Given the description of an element on the screen output the (x, y) to click on. 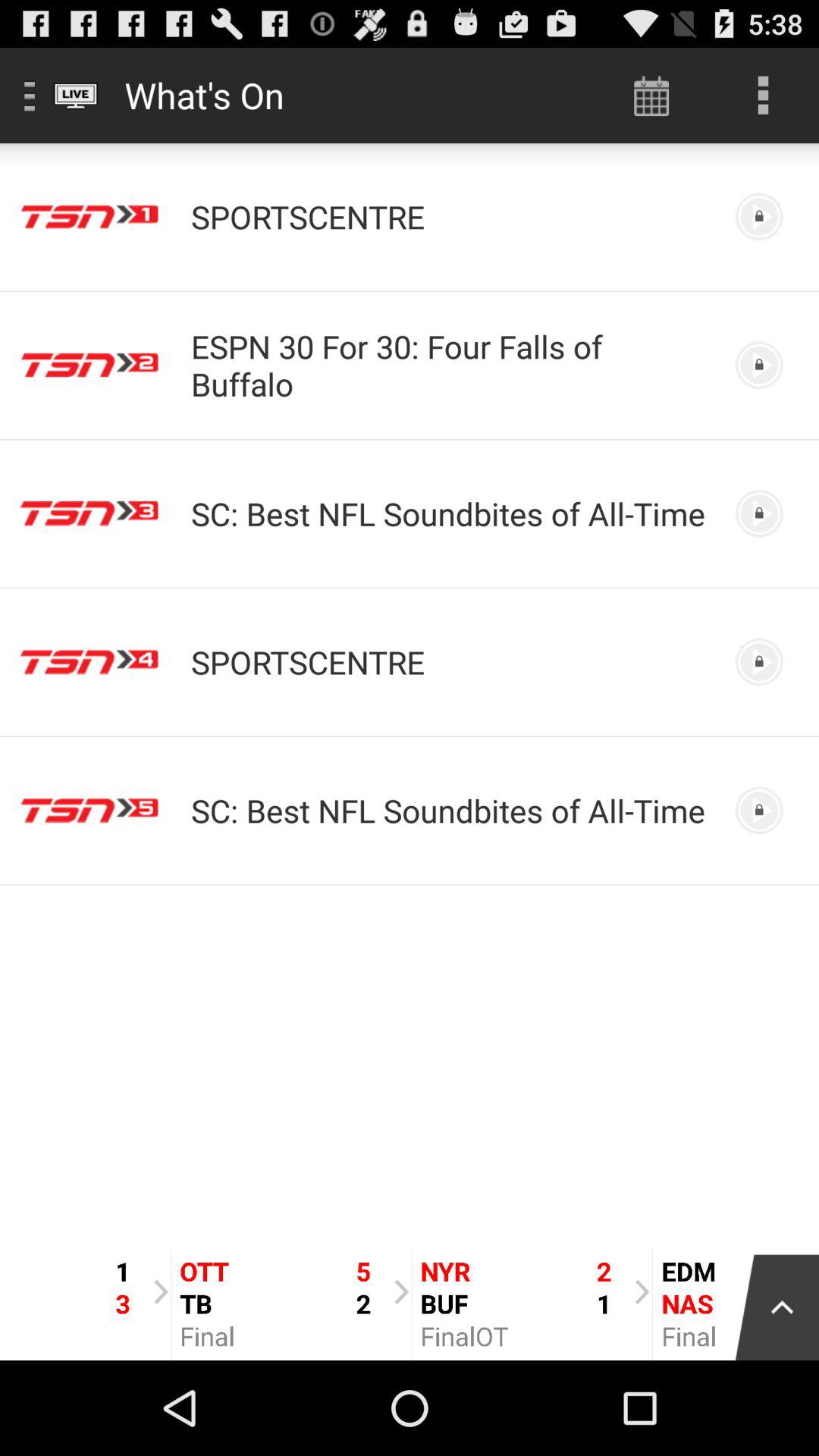
turn off espn 30 for icon (450, 364)
